Given the description of an element on the screen output the (x, y) to click on. 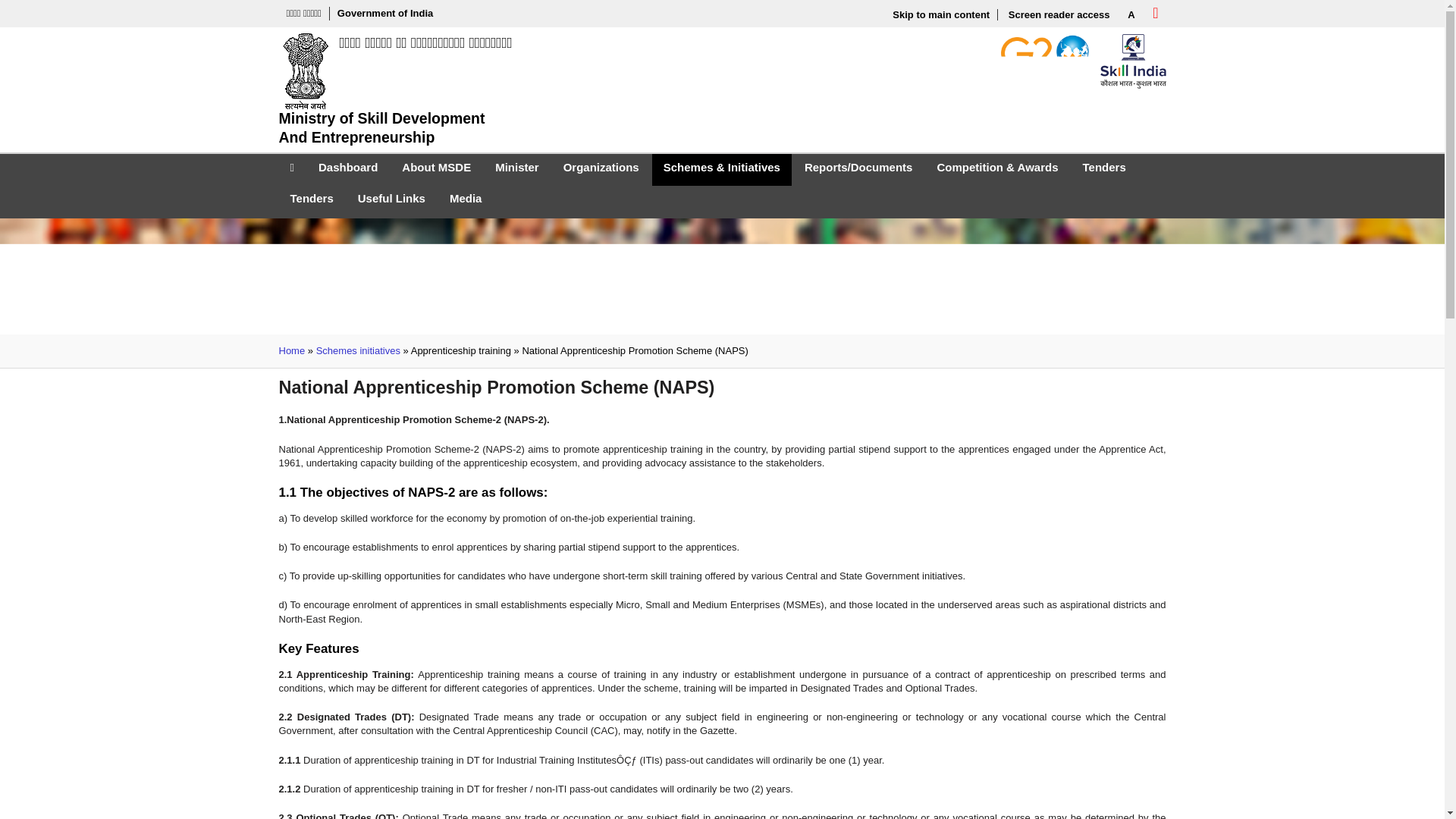
Screen reader access (1059, 14)
Minister (516, 169)
Government of India (385, 13)
Dashboard (347, 169)
Home (395, 90)
Skip to main content (941, 14)
About MSDE (435, 169)
Organizations (600, 169)
A (1130, 14)
Skill India, External link that open in a new windows  (1132, 60)
